Given the description of an element on the screen output the (x, y) to click on. 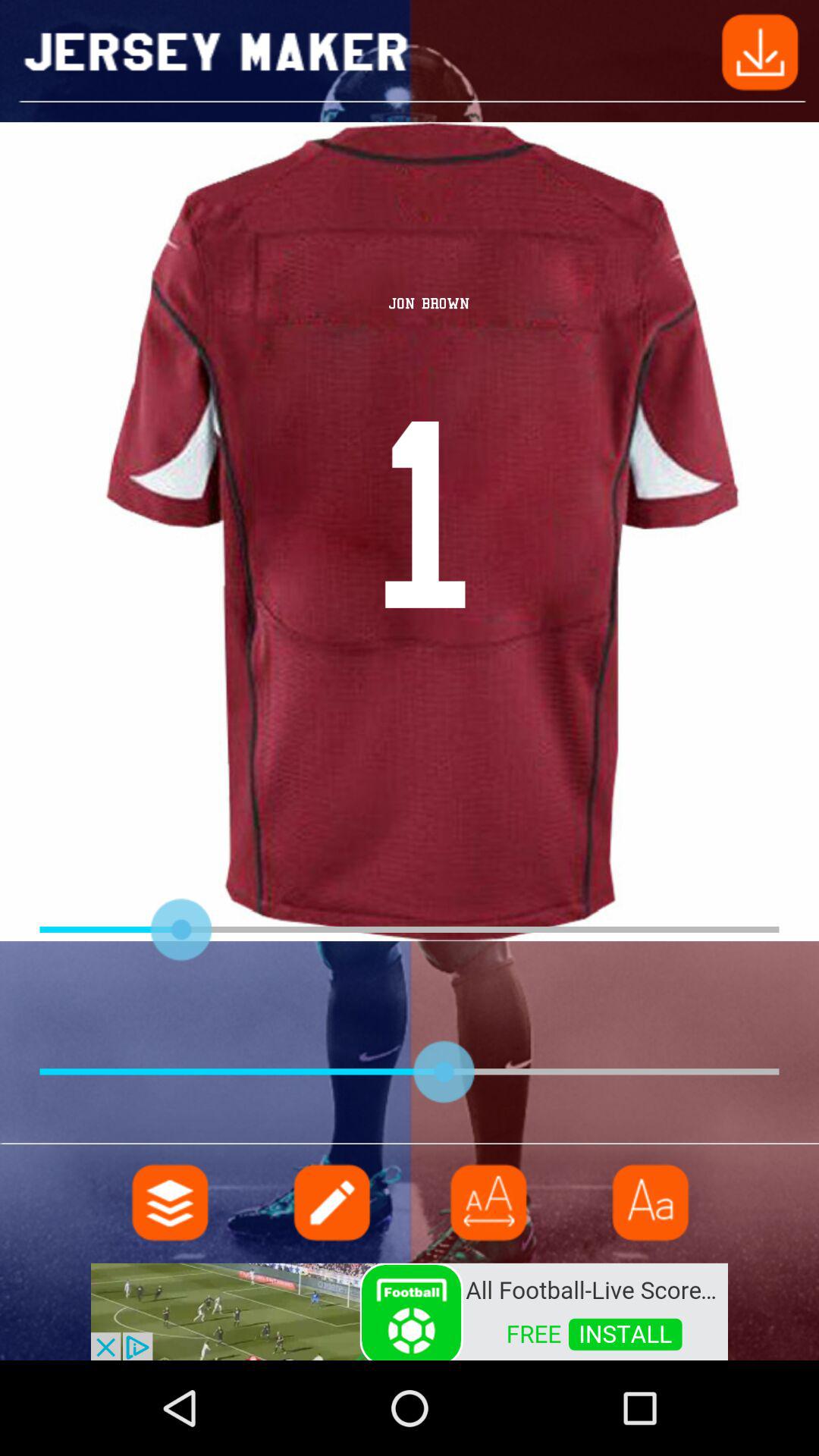
seach pega (329, 1202)
